Given the description of an element on the screen output the (x, y) to click on. 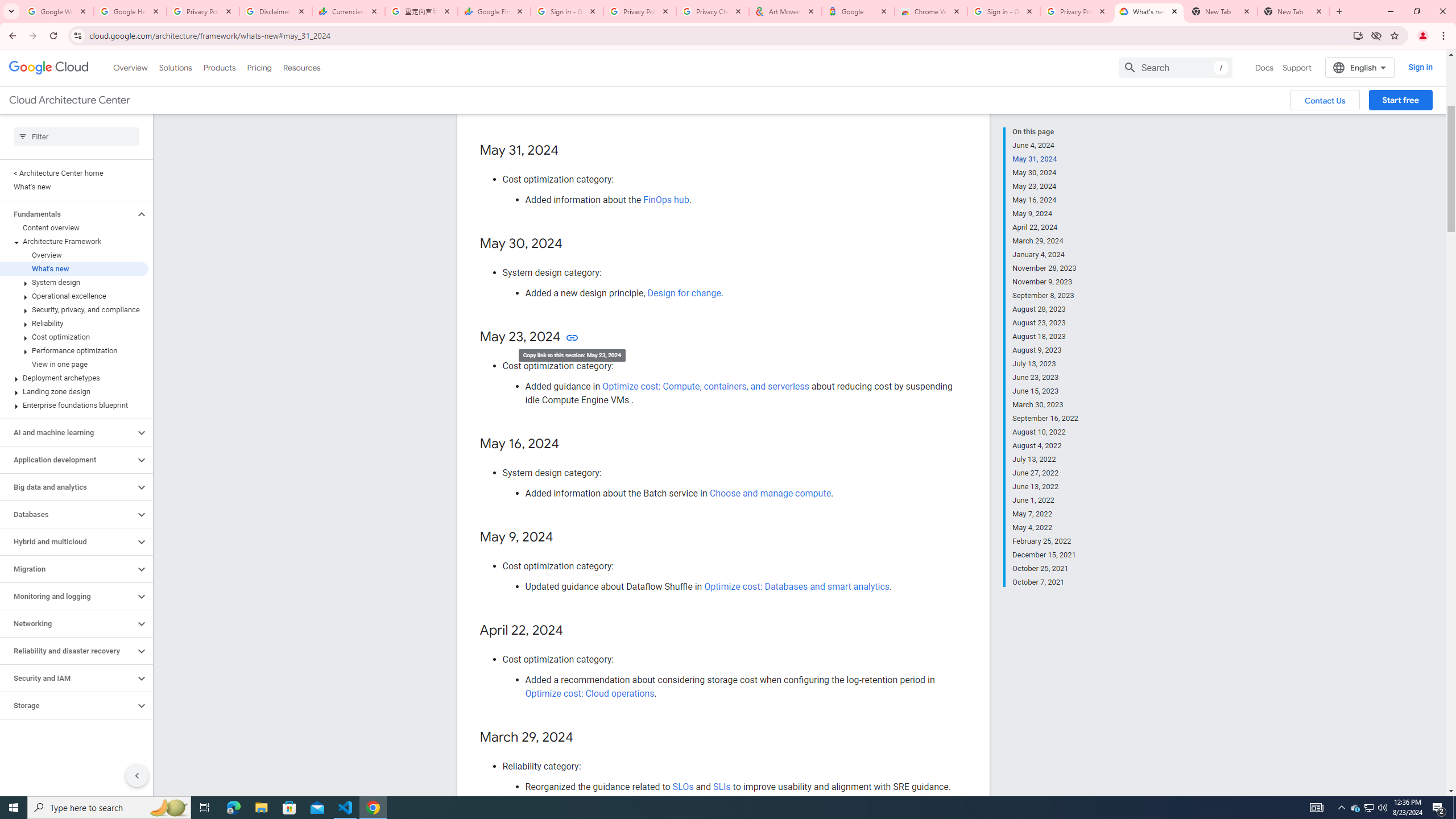
AI and machine learning (67, 432)
What's new (74, 269)
Sign in - Google Accounts (1003, 11)
September 16, 2022 (1044, 418)
June 27, 2022 (1044, 472)
August 9, 2023 (1044, 350)
January 4, 2024 (1044, 254)
February 25, 2022 (1044, 540)
September 8, 2023 (1044, 295)
Copy link to this section: May 30, 2024 (573, 244)
